Given the description of an element on the screen output the (x, y) to click on. 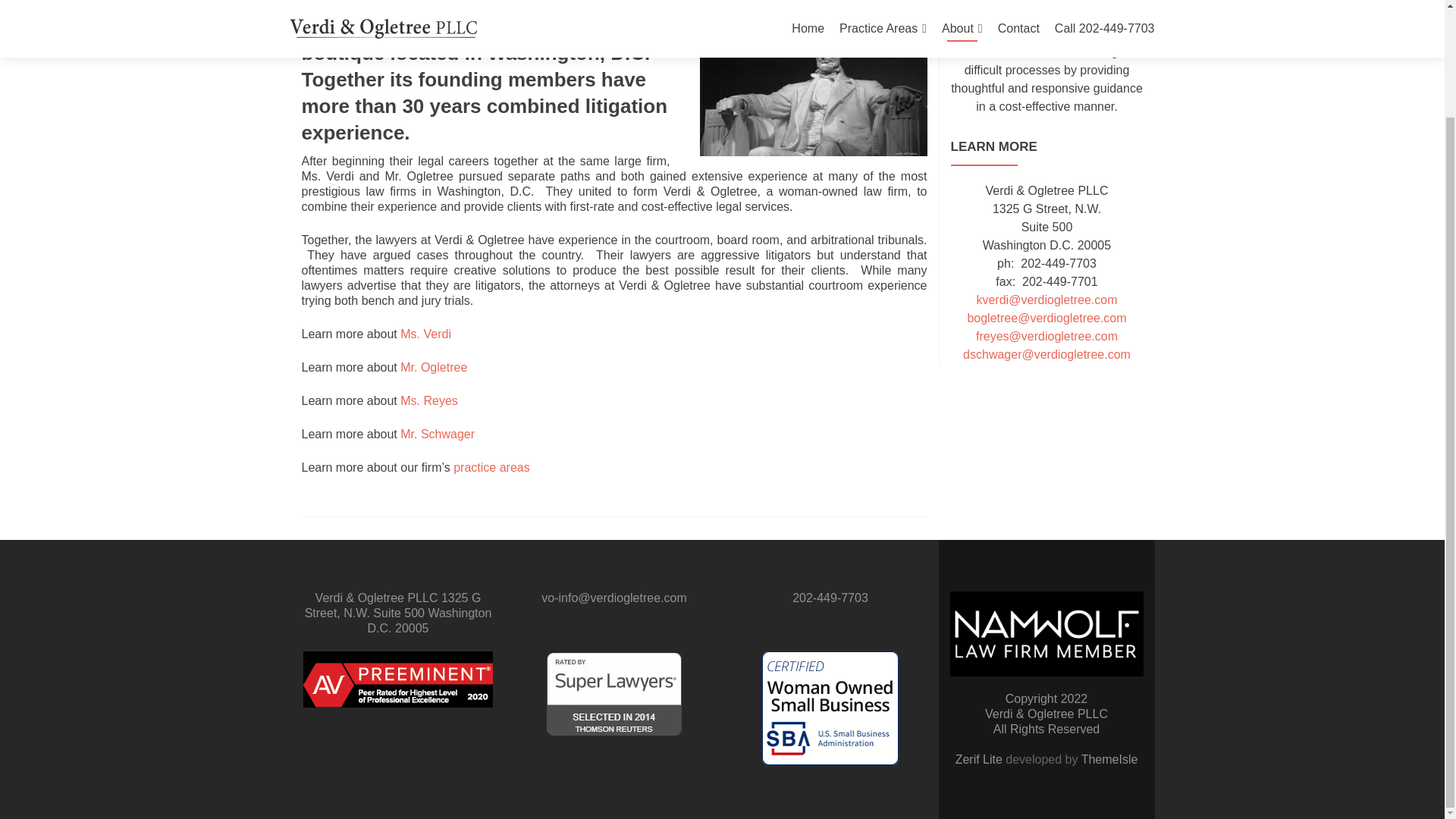
Ms. Reyes (429, 400)
Zerif Lite (980, 758)
Ms. Verdi (425, 333)
practice areas (490, 467)
Mr. Ogletree (433, 367)
ThemeIsle (1109, 758)
Mr. Schwager (437, 433)
202-449-7703 (829, 597)
